Given the description of an element on the screen output the (x, y) to click on. 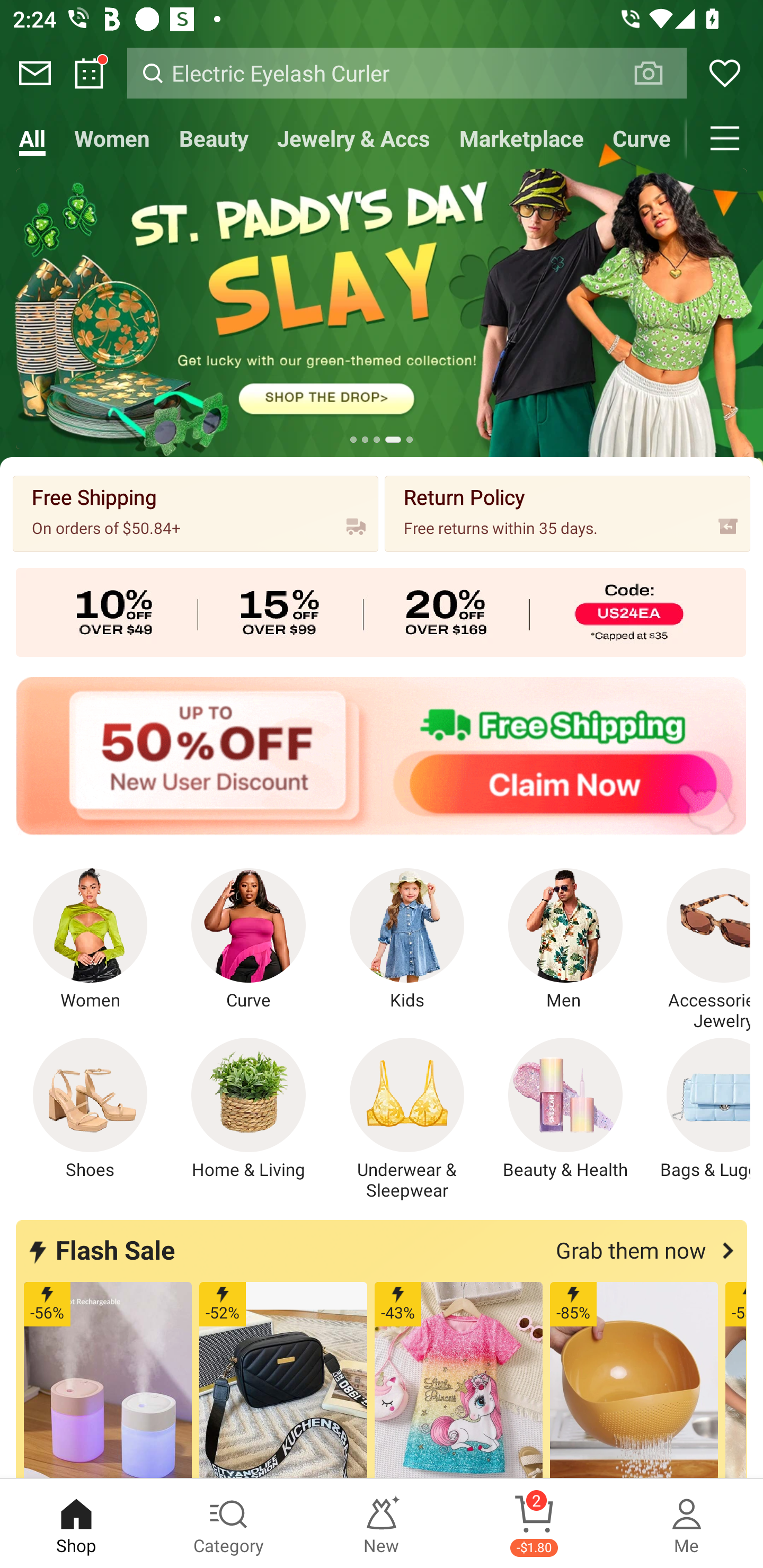
Wishlist (724, 72)
VISUAL SEARCH (657, 72)
All (31, 137)
Women (111, 137)
Beauty (213, 137)
Jewelry & Accs (353, 137)
Marketplace (521, 137)
Curve (641, 137)
Free Shipping On orders of $50.84+ (195, 513)
Return Policy Free returns within 35 days. (567, 513)
Women (89, 939)
Curve (248, 939)
Kids (406, 939)
Men  (565, 939)
Accessories & Jewelry (698, 949)
Shoes (89, 1109)
Home & Living (248, 1109)
Underwear & Sleepwear (406, 1119)
Beauty & Health (565, 1109)
Bags & Luggage (698, 1109)
Category (228, 1523)
New (381, 1523)
Cart 2 -$1.80 (533, 1523)
Me (686, 1523)
